Given the description of an element on the screen output the (x, y) to click on. 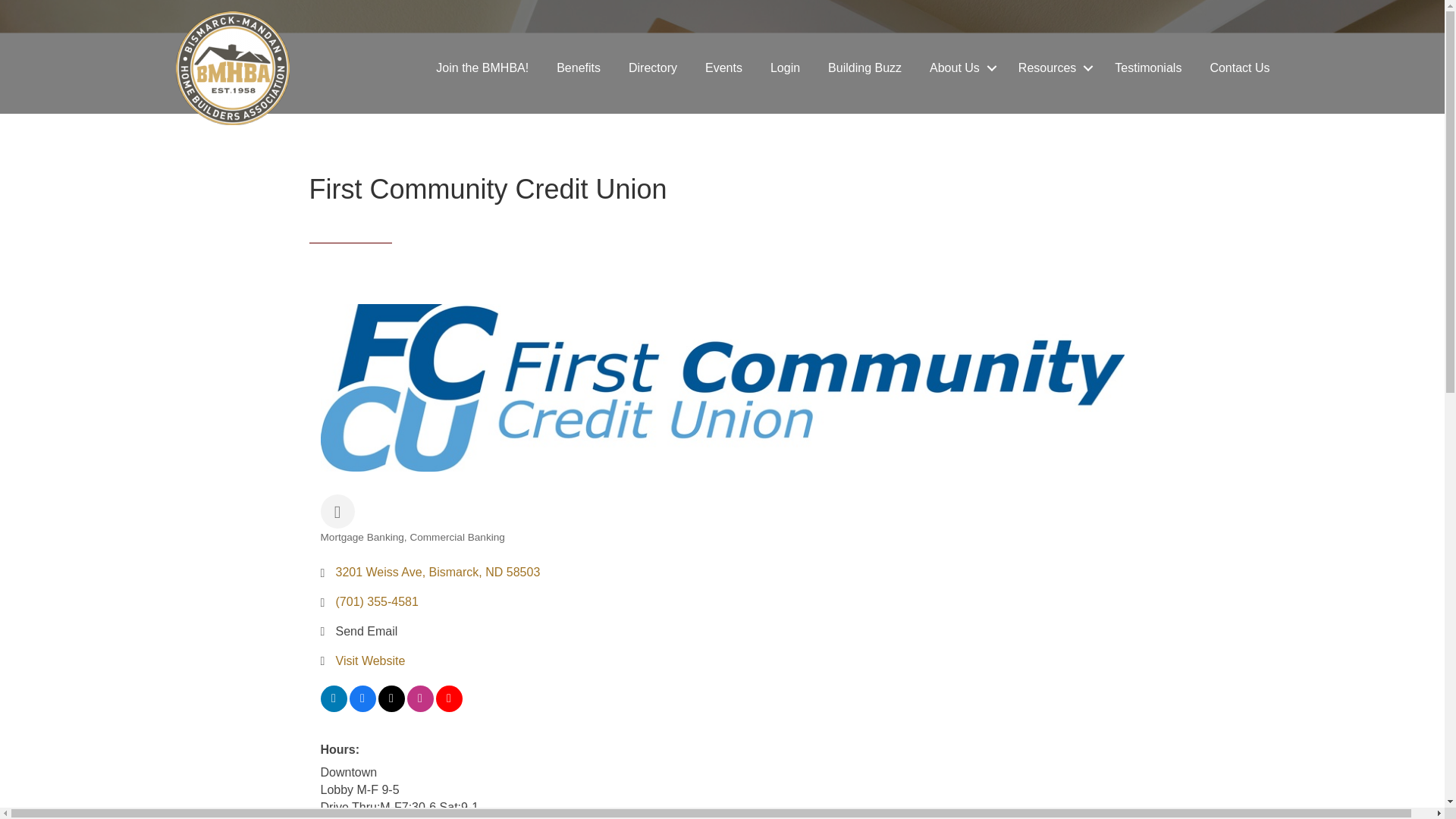
About Us (959, 68)
Visit Website (369, 660)
Resources (1052, 68)
Events (723, 68)
Benefits (578, 68)
Testimonials (1147, 68)
View on Twitter (390, 707)
Building Buzz (864, 68)
3201 Weiss Ave Bismarck ND 58503 (437, 572)
